Given the description of an element on the screen output the (x, y) to click on. 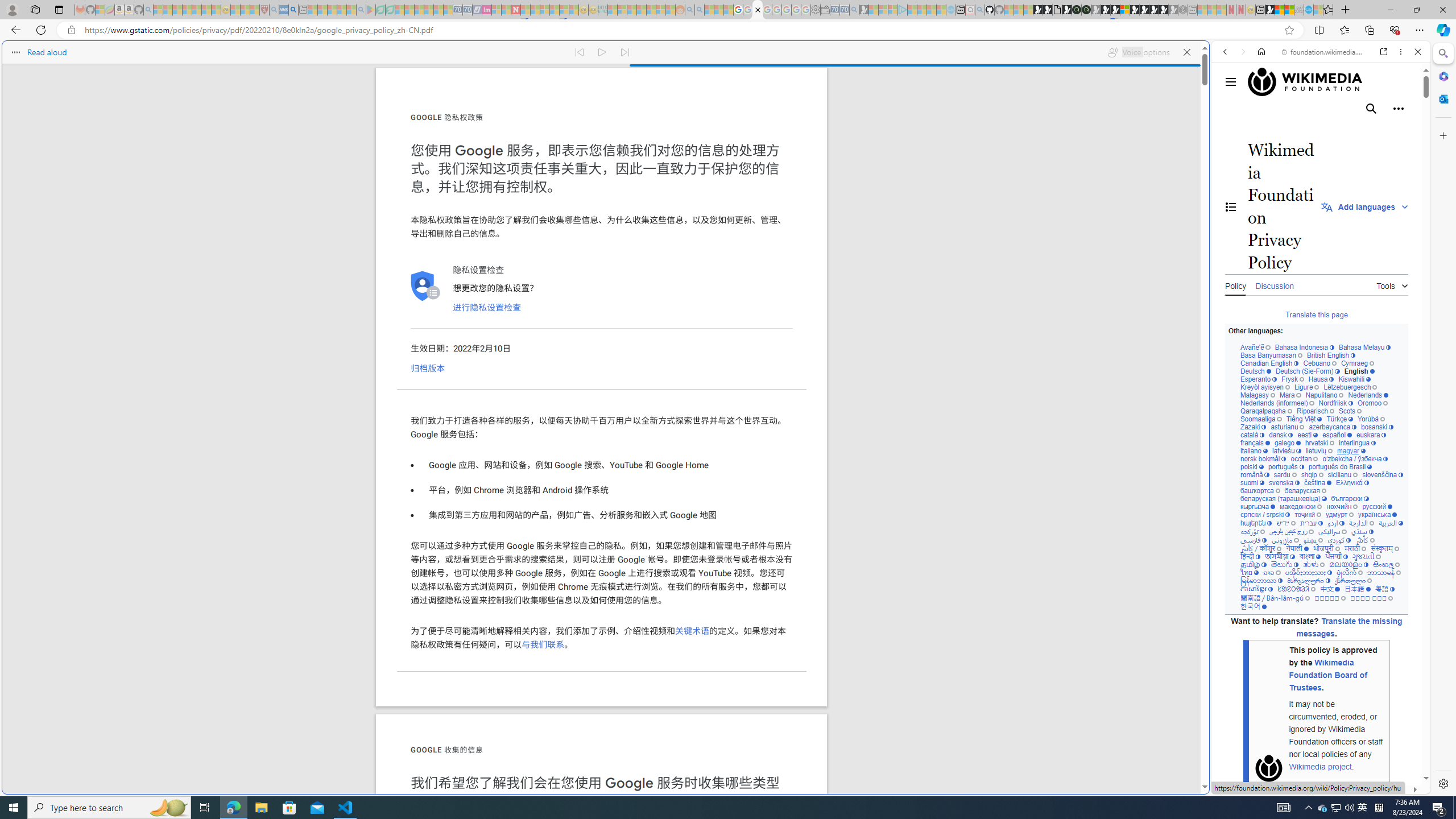
Frysk (1292, 379)
Discussion (1274, 284)
Deutsch (Sie-Form) (1307, 371)
British English (1330, 355)
